Given the description of an element on the screen output the (x, y) to click on. 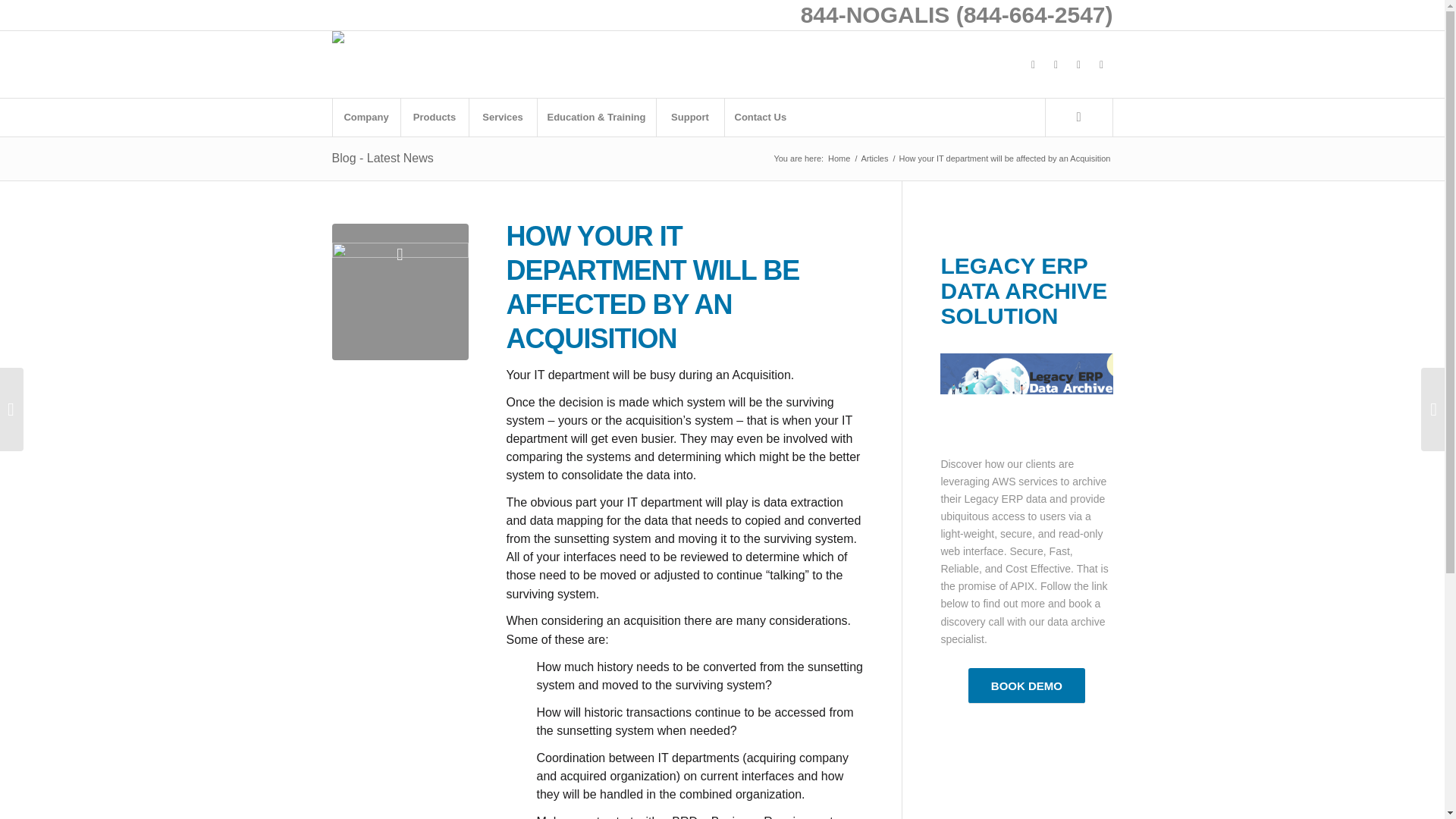
Book a time to discuss your project with an expert (1026, 685)
Articles (874, 158)
Permanent Link: Blog - Latest News (382, 157)
Services (502, 117)
logo with slogan good (367, 42)
Nogalis, Inc. (838, 158)
Facebook (1033, 64)
Blog - Latest News (382, 157)
Home (838, 158)
Contact Us (759, 117)
